Given the description of an element on the screen output the (x, y) to click on. 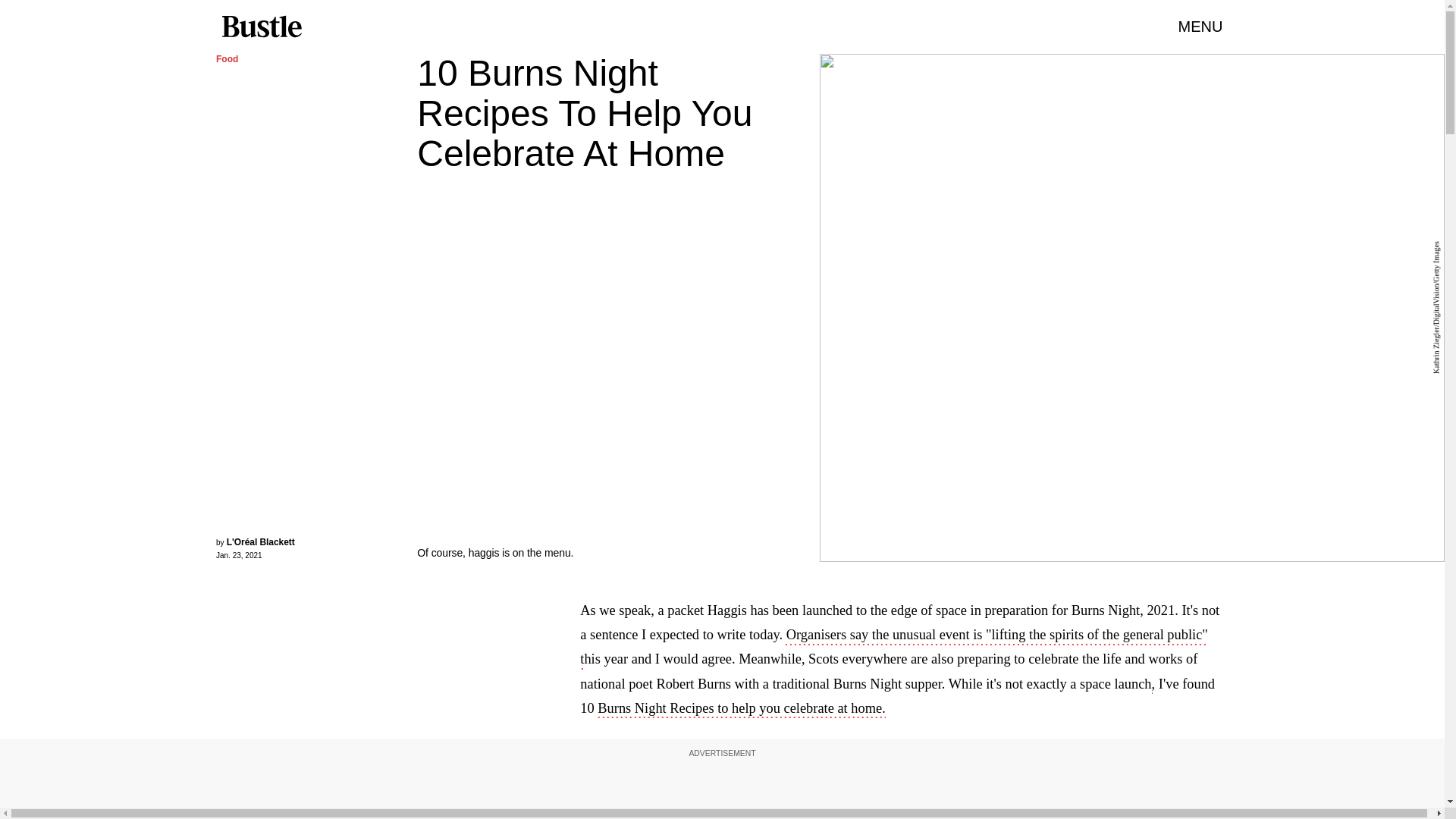
Burns Night Recipes to help you celebrate at home. (740, 710)
Bustle (261, 26)
